Given the description of an element on the screen output the (x, y) to click on. 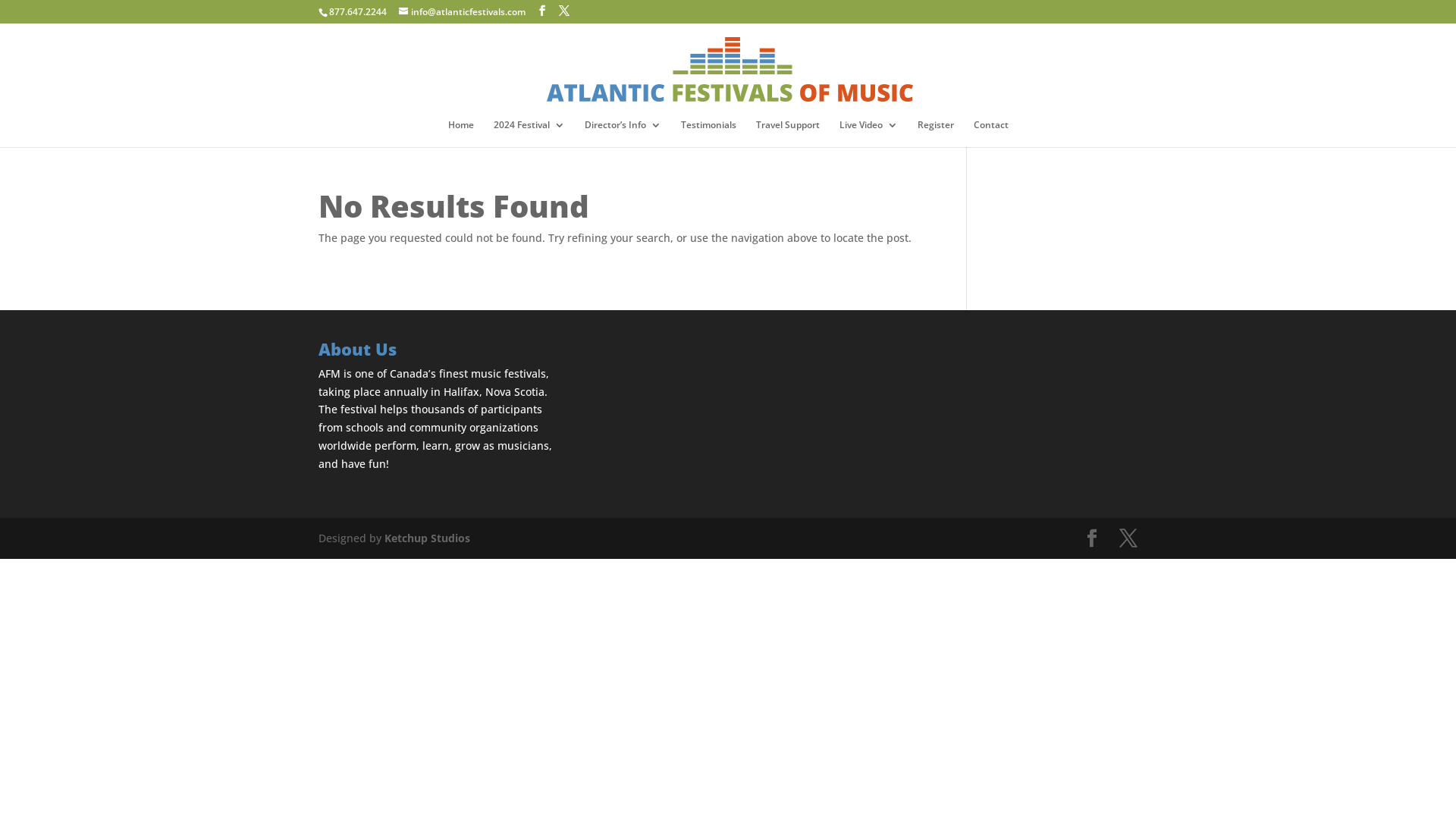
Travel Support Element type: text (787, 133)
Live Video Element type: text (867, 133)
2024 Festival Element type: text (528, 133)
Register Element type: text (935, 133)
info@atlanticfestivals.com Element type: text (461, 11)
Home Element type: text (460, 133)
Contact Element type: text (990, 133)
Testimonials Element type: text (708, 133)
Ketchup Studios Element type: text (427, 537)
